Given the description of an element on the screen output the (x, y) to click on. 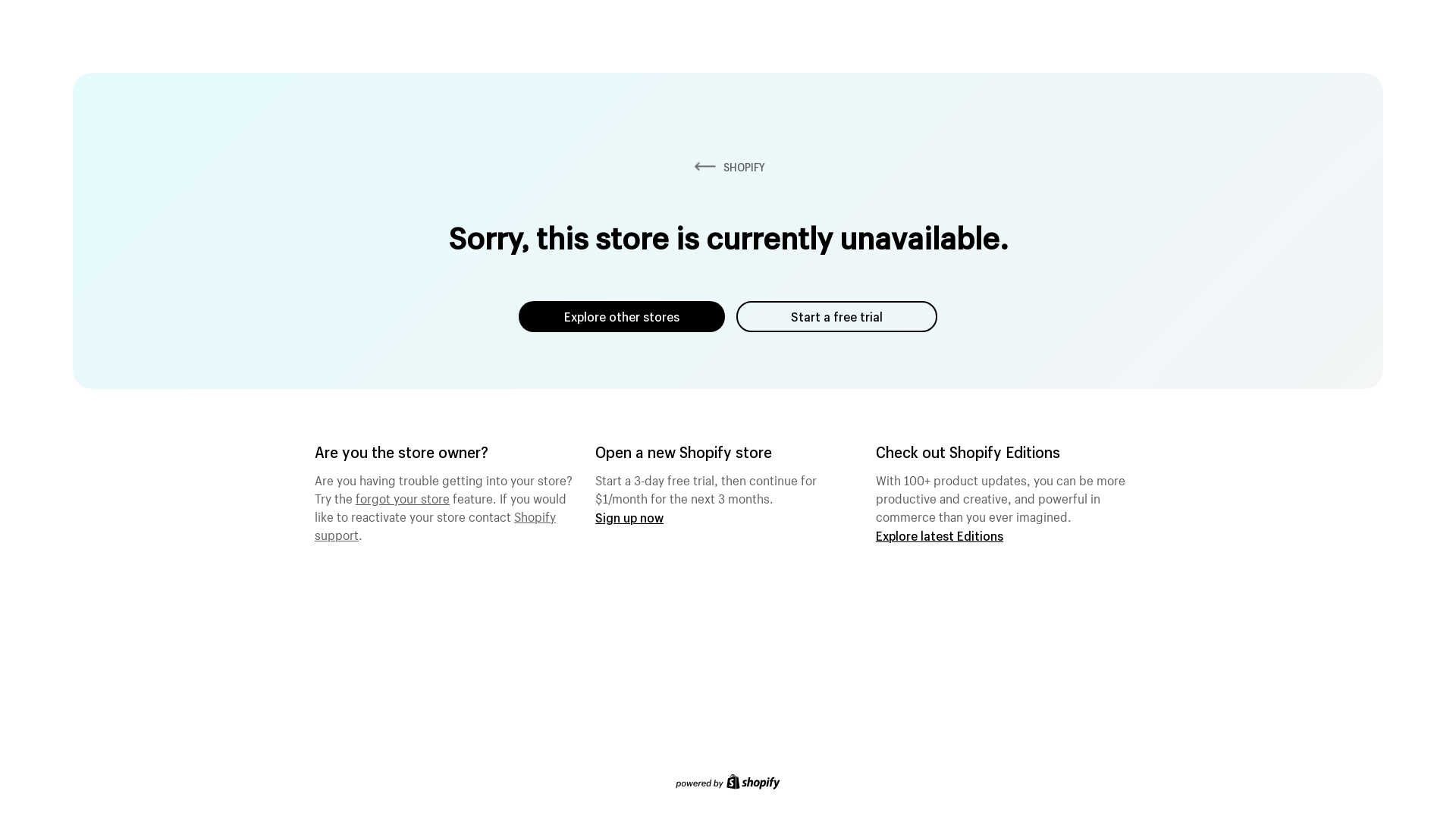
Explore latest Editions Element type: text (939, 535)
Explore other stores Element type: text (621, 316)
Start a free trial Element type: text (836, 316)
forgot your store Element type: text (402, 496)
Shopify support Element type: text (434, 523)
SHOPIFY Element type: text (727, 167)
Sign up now Element type: text (629, 517)
